Given the description of an element on the screen output the (x, y) to click on. 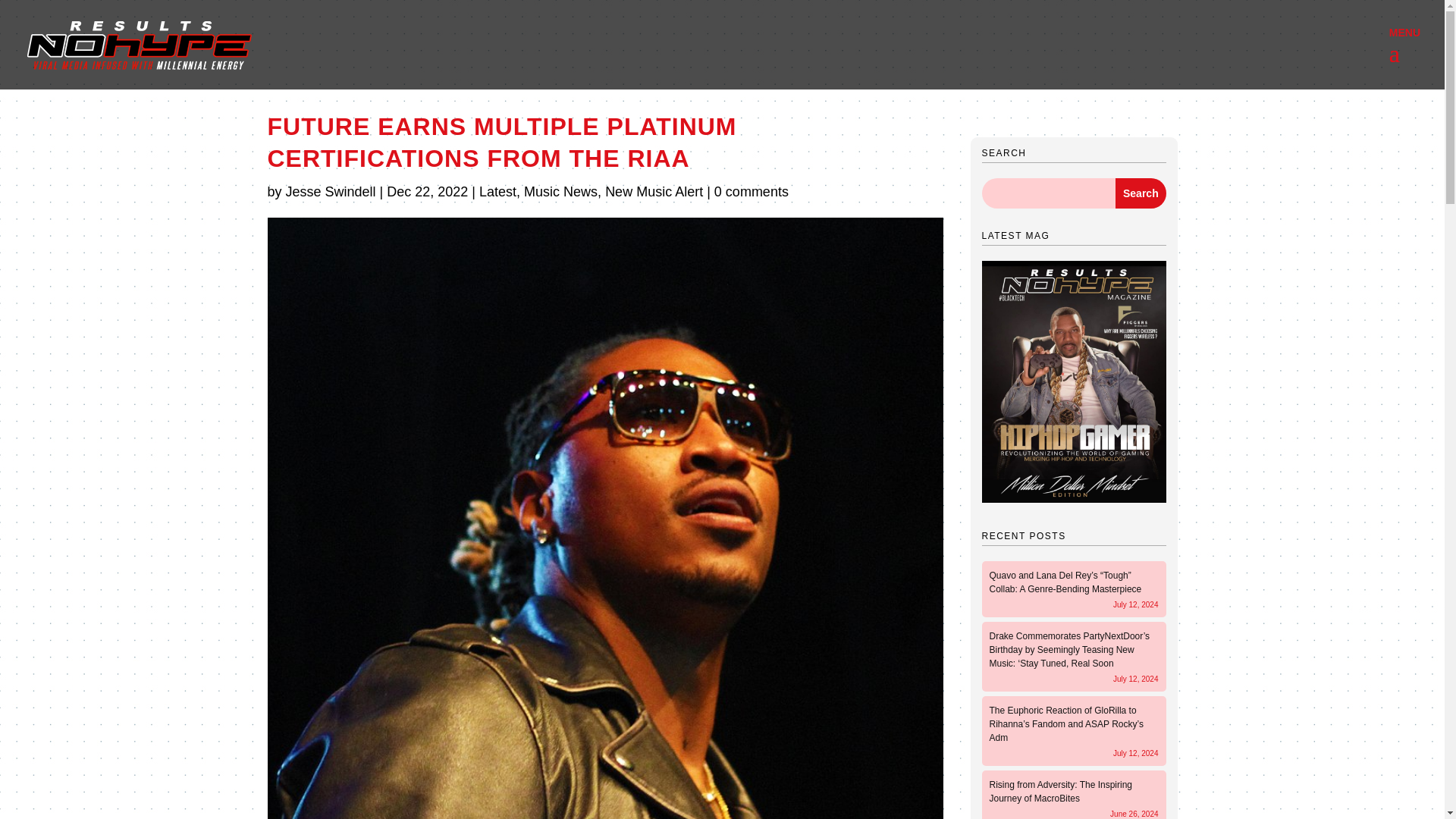
Jesse Swindell (330, 191)
Posts by Jesse Swindell (330, 191)
Search (1140, 193)
New Music Alert (654, 191)
Latest (497, 191)
0 comments (751, 191)
Music News (560, 191)
